Given the description of an element on the screen output the (x, y) to click on. 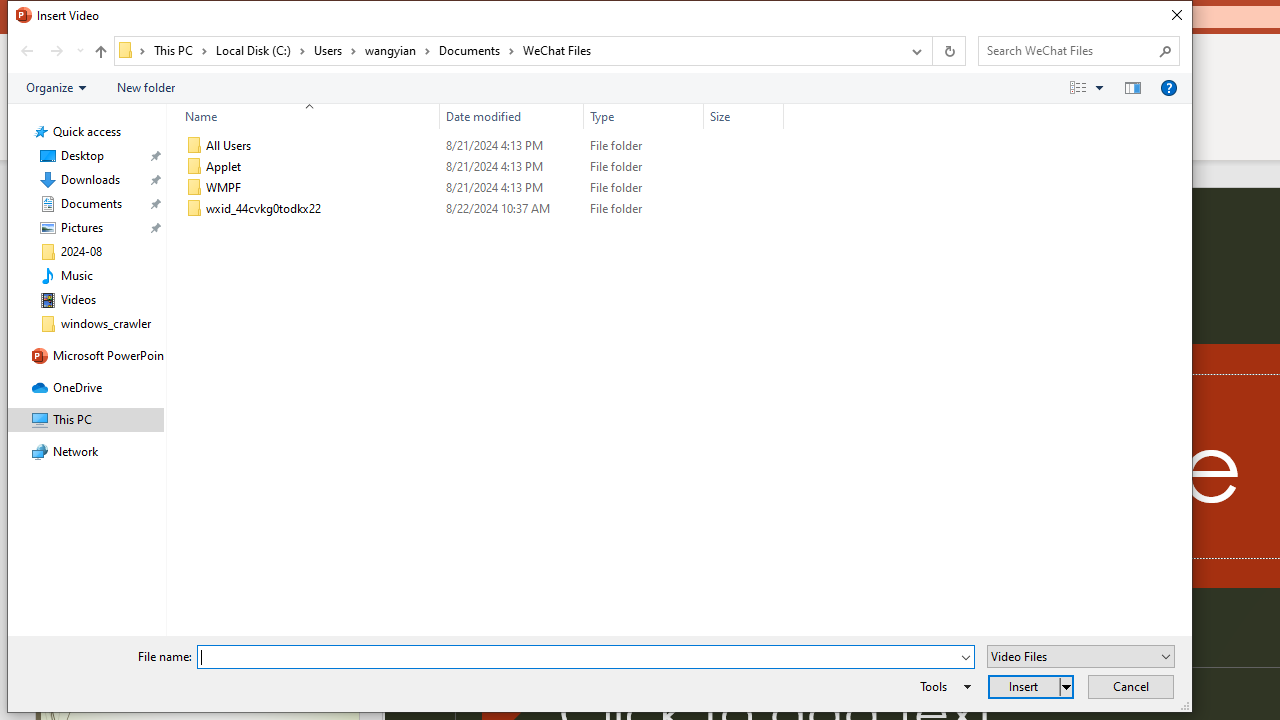
All locations (132, 50)
Date modified (511, 209)
Size (743, 209)
File name: (586, 656)
Search Box (1069, 50)
Name (321, 209)
Organize (56, 87)
Files of type: (1080, 656)
Forward (Alt + Right Arrow) (56, 51)
Address: C:\Users\wangyian\Documents\WeChat Files (506, 51)
View Slider (1099, 87)
Type (643, 115)
Command Module (599, 87)
